Given the description of an element on the screen output the (x, y) to click on. 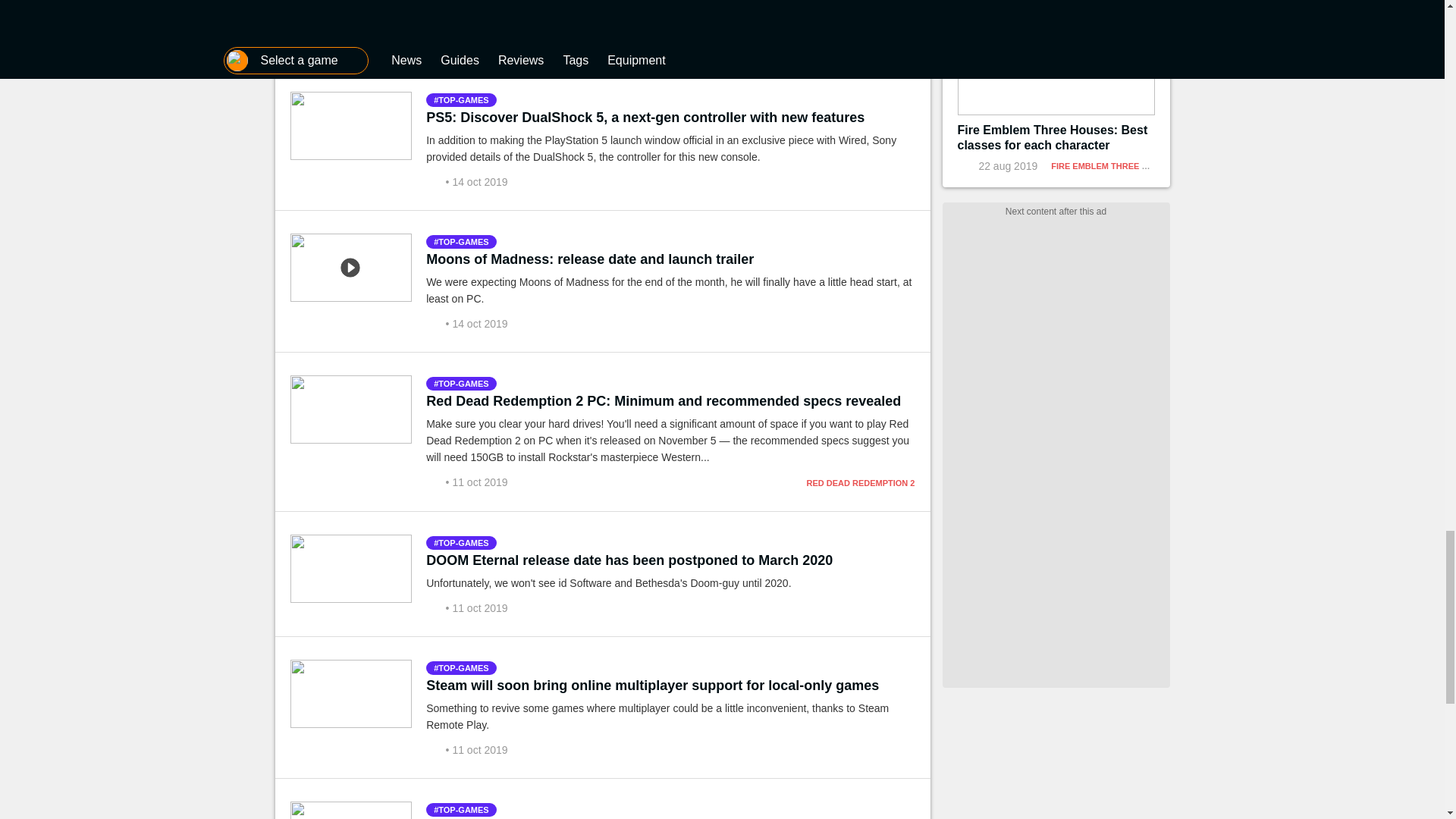
FIRE EMBLEM THREE HOUSES (1113, 165)
Moons of Madness: release date and launch trailer (590, 258)
DOOM Eternal release date has been postponed to March 2020 (629, 560)
RED DEAD REDEMPTION 2 (860, 482)
